Given the description of an element on the screen output the (x, y) to click on. 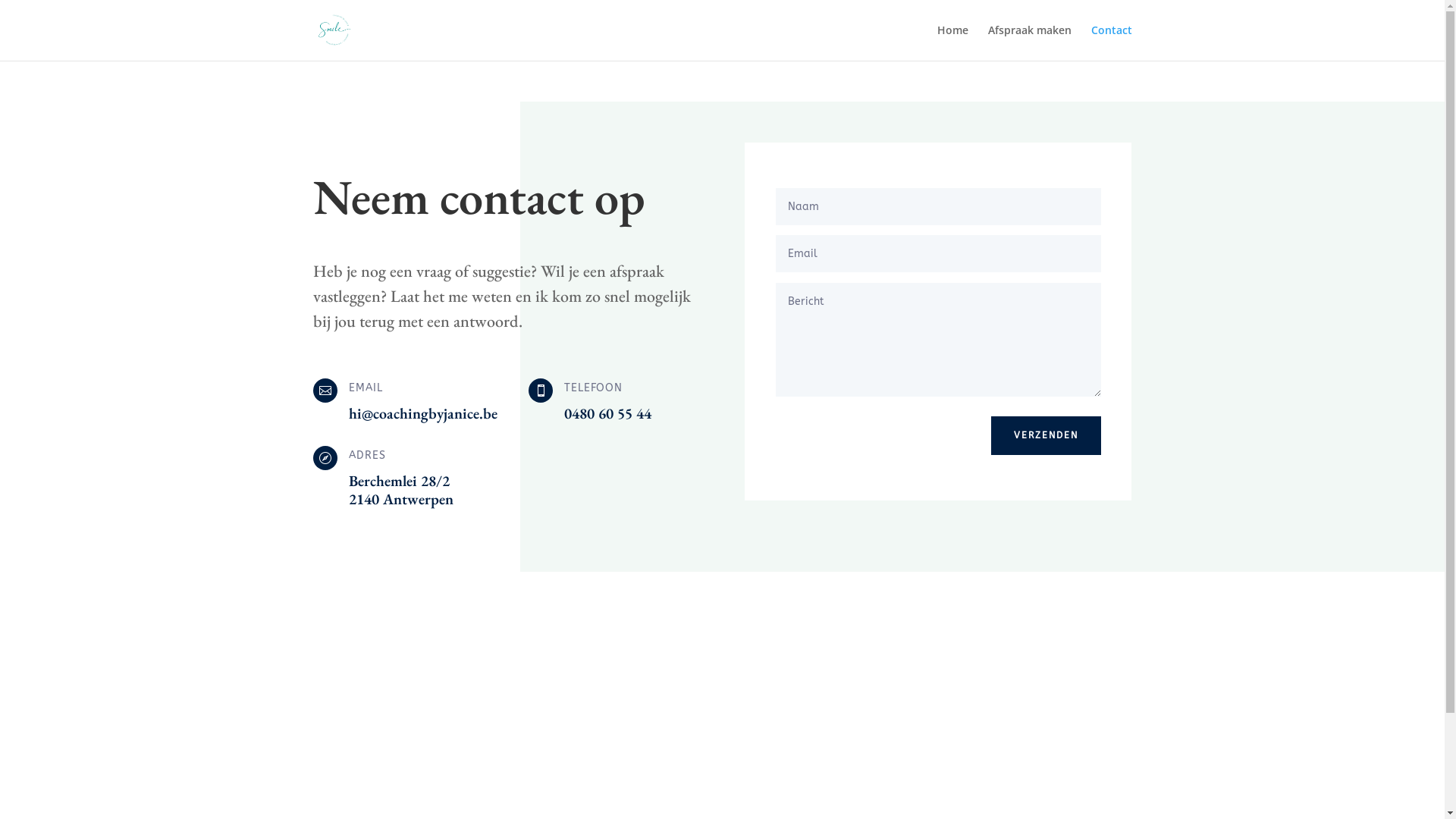
Home Element type: text (952, 42)
Contact Element type: text (1110, 42)
VERZENDEN Element type: text (1046, 435)
Afspraak maken Element type: text (1028, 42)
